Given the description of an element on the screen output the (x, y) to click on. 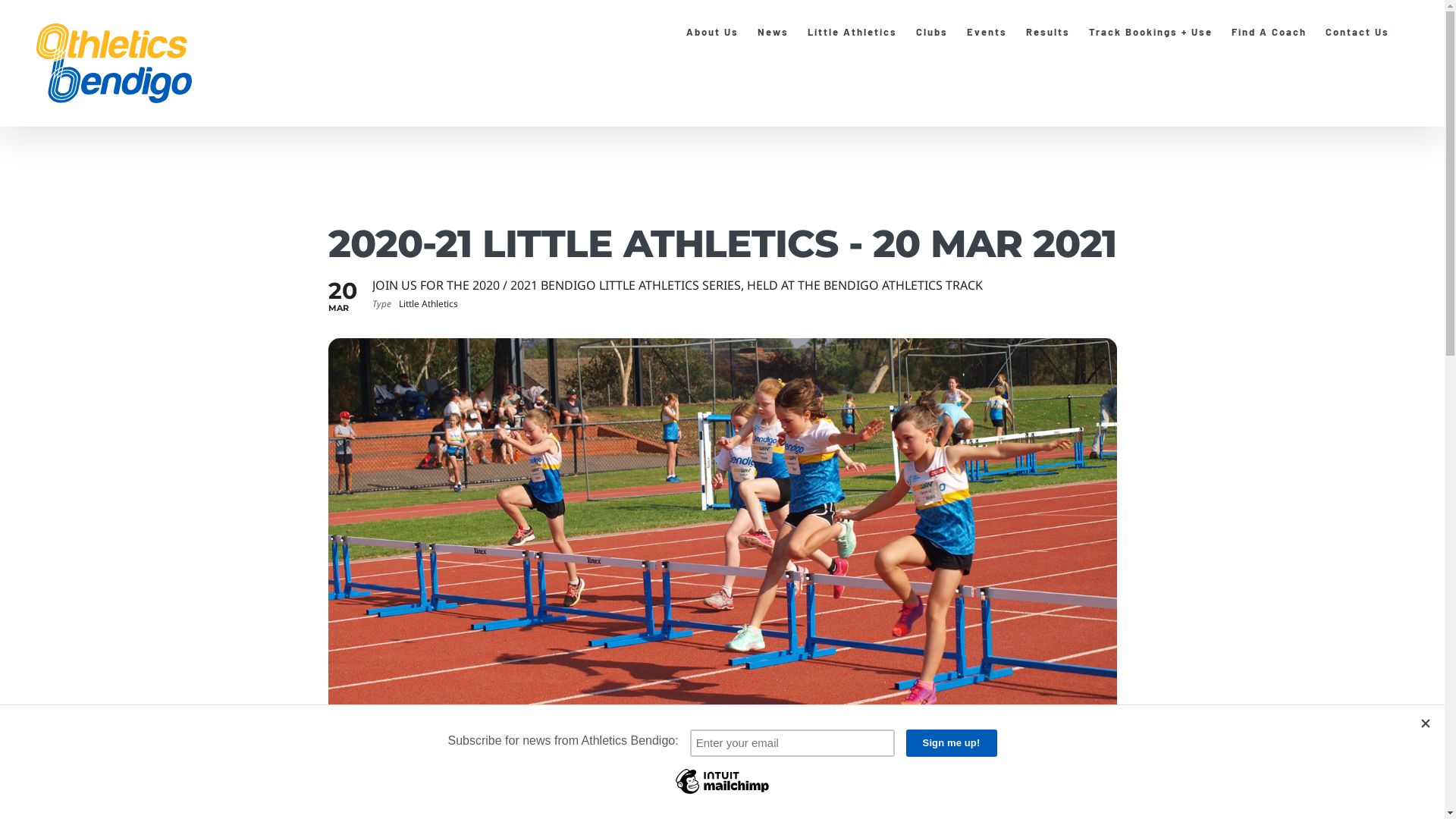
Track Bookings + Use Element type: text (1150, 31)
Clubs Element type: text (931, 31)
About Us Element type: text (712, 31)
Events Element type: text (986, 31)
News Element type: text (772, 31)
Find A Coach Element type: text (1268, 31)
REGISTER NOW Element type: text (425, 804)
Little Athletics Element type: text (852, 31)
Contact Us Element type: text (1357, 31)
Results Element type: text (1048, 31)
